Given the description of an element on the screen output the (x, y) to click on. 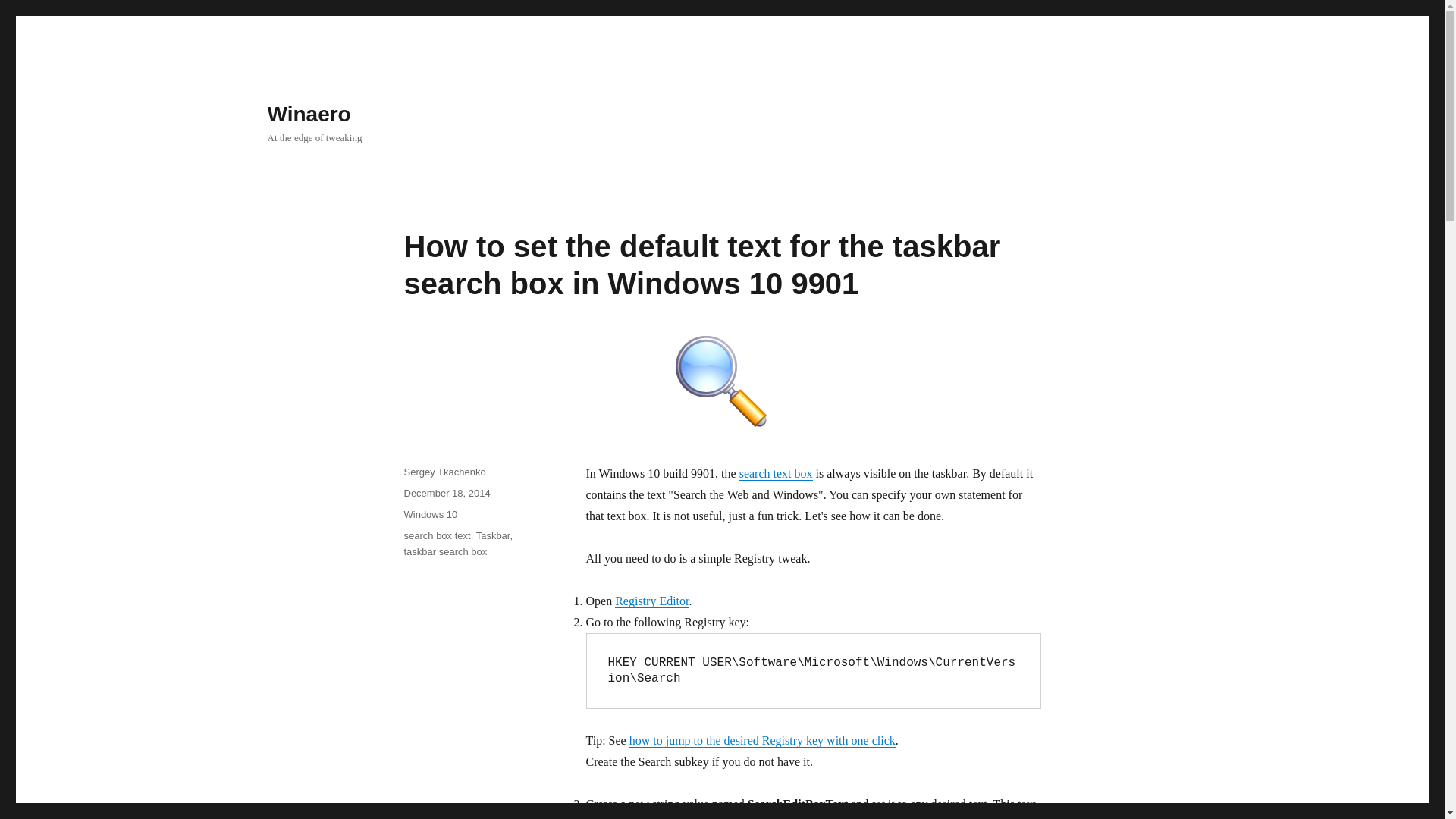
December 18, 2014 (446, 492)
how to jump to the desired Registry key with one click (761, 739)
taskbar search box (444, 551)
Windows 10 (430, 514)
search box text (436, 535)
Registry Editor (651, 600)
Sergey Tkachenko (443, 471)
search text box (775, 472)
Winaero (308, 114)
Taskbar (493, 535)
